Given the description of an element on the screen output the (x, y) to click on. 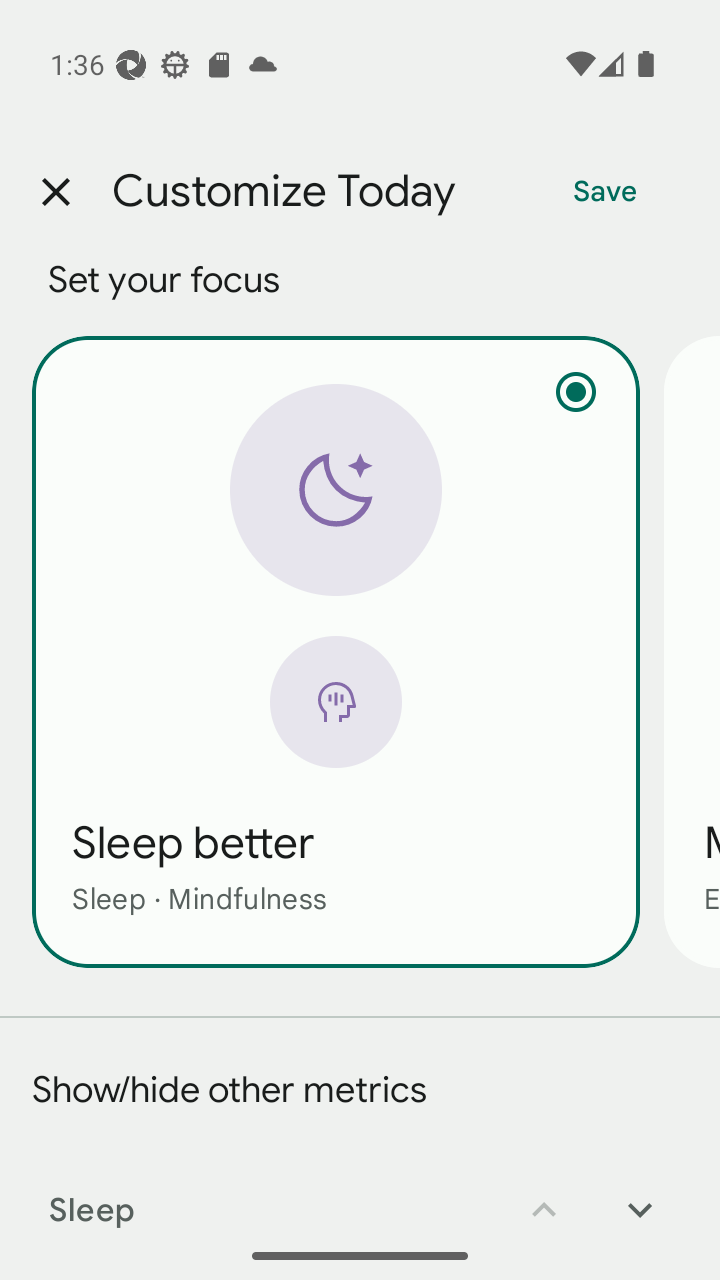
Close (55, 191)
Save (605, 191)
Sleep better Sleep · Mindfulness (335, 651)
Move Sleep up (543, 1196)
Move Sleep down (639, 1196)
